Given the description of an element on the screen output the (x, y) to click on. 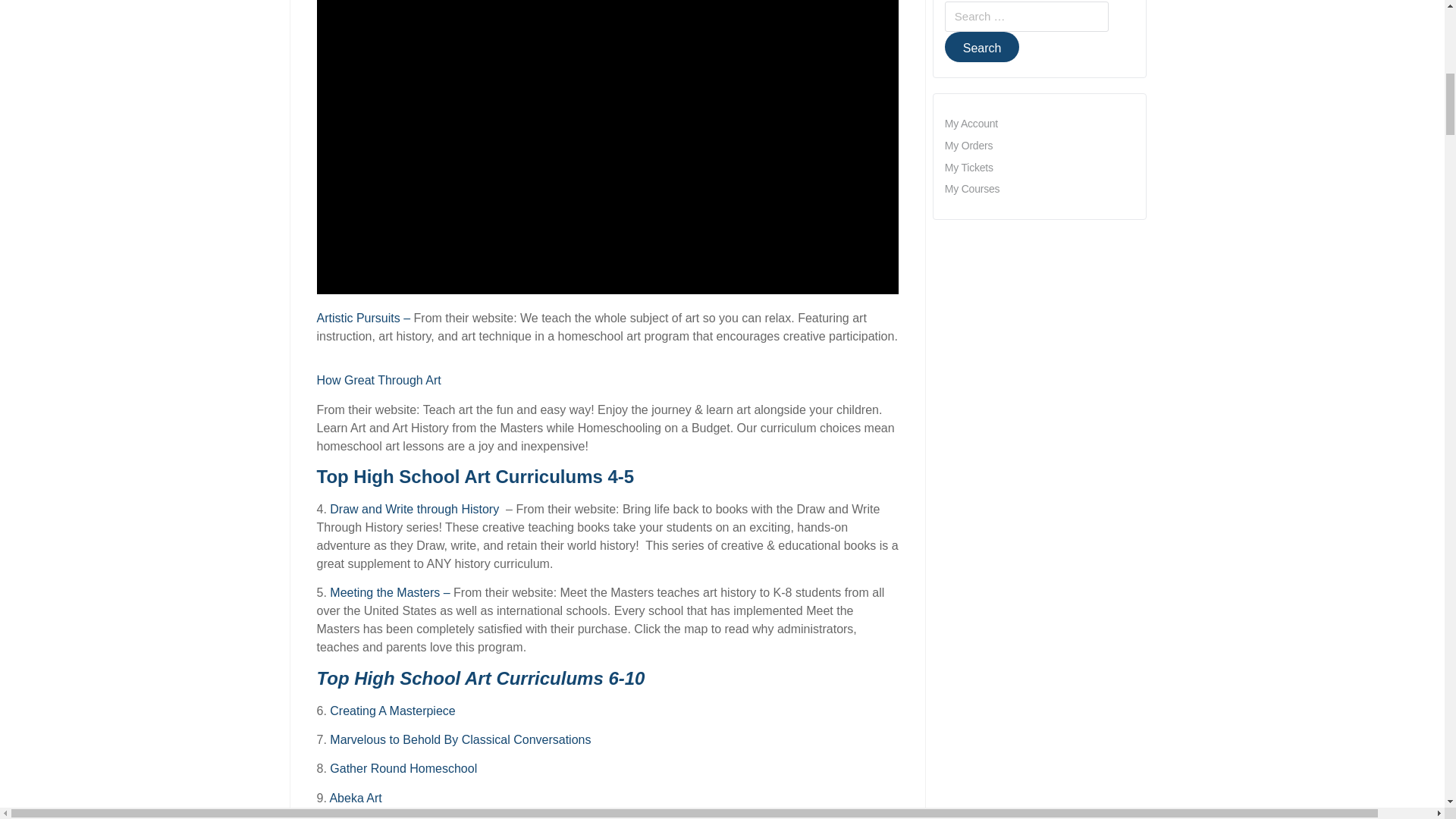
Search (982, 46)
Search (982, 46)
